Given the description of an element on the screen output the (x, y) to click on. 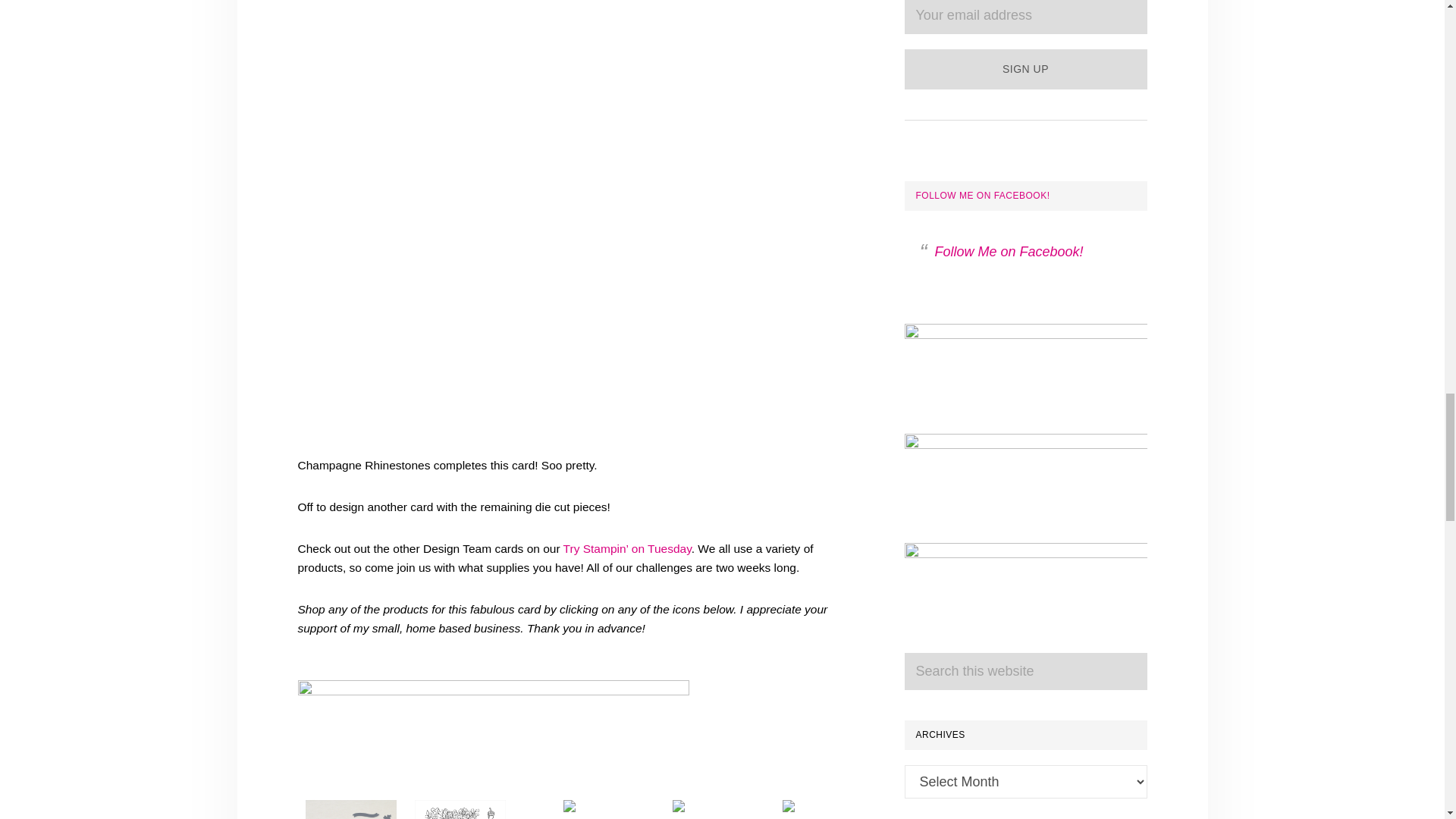
Sign up (1025, 69)
